Given the description of an element on the screen output the (x, y) to click on. 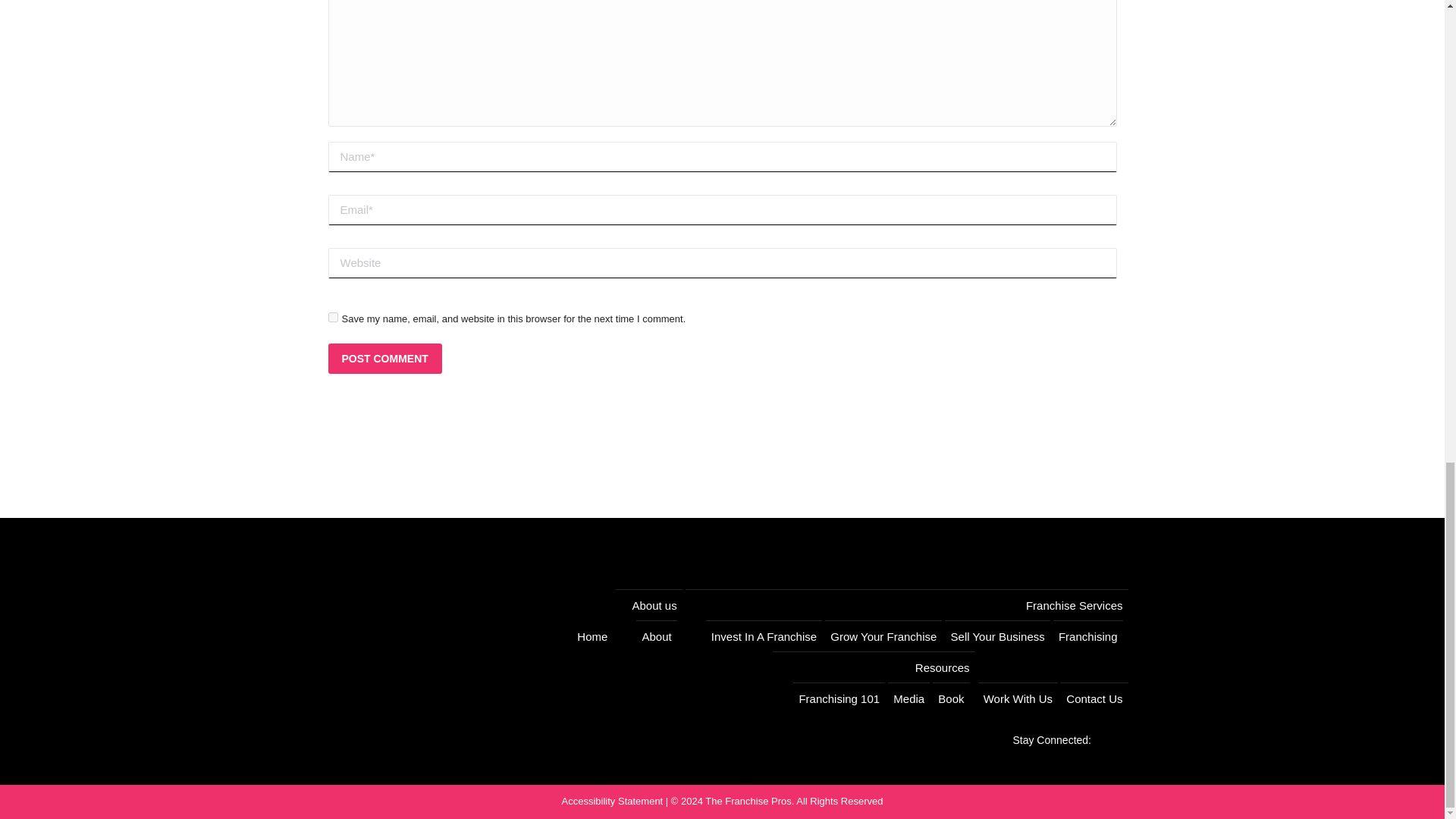
yes (332, 317)
